Given the description of an element on the screen output the (x, y) to click on. 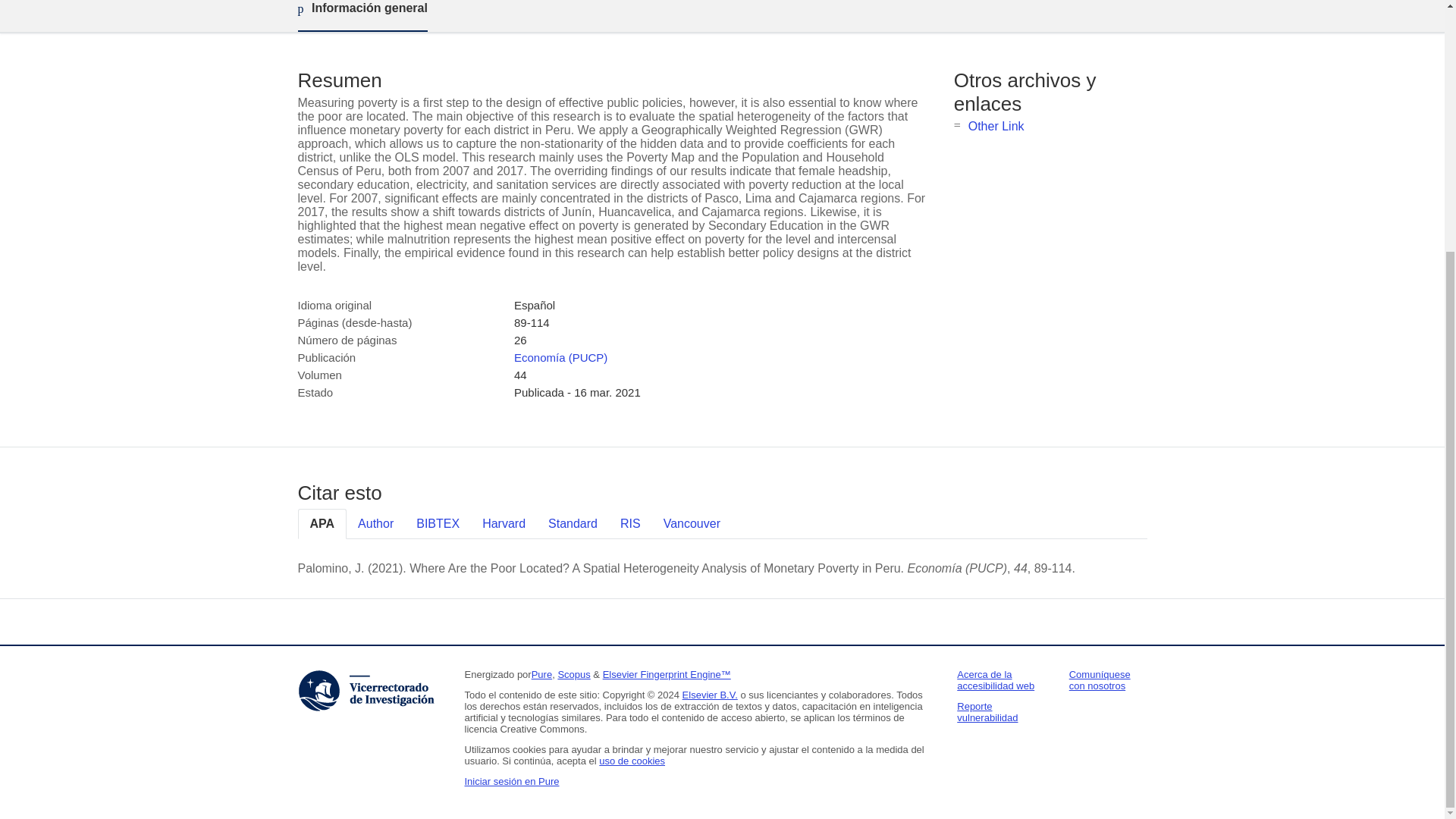
Other Link (996, 125)
uso de cookies (631, 760)
Elsevier B.V. (710, 695)
Acerca de la accesibilidad web (994, 680)
Pure (541, 674)
Scopus (573, 674)
Reporte vulnerabilidad (986, 712)
